Given the description of an element on the screen output the (x, y) to click on. 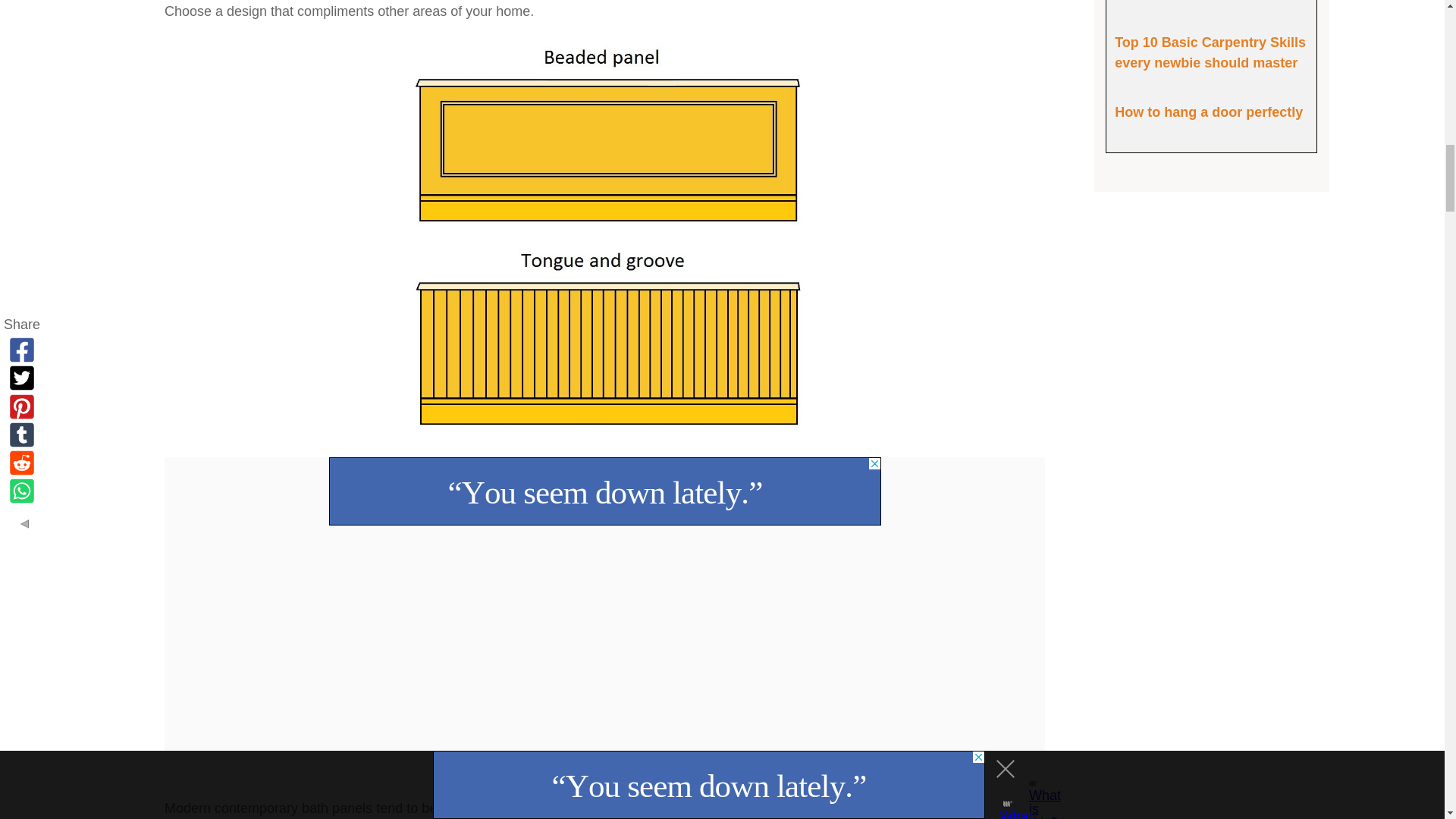
3rd party ad content (604, 491)
How to hang a door perfectly (1209, 111)
Top 10 Basic Carpentry Skills every newbie should master (1210, 52)
